Given the description of an element on the screen output the (x, y) to click on. 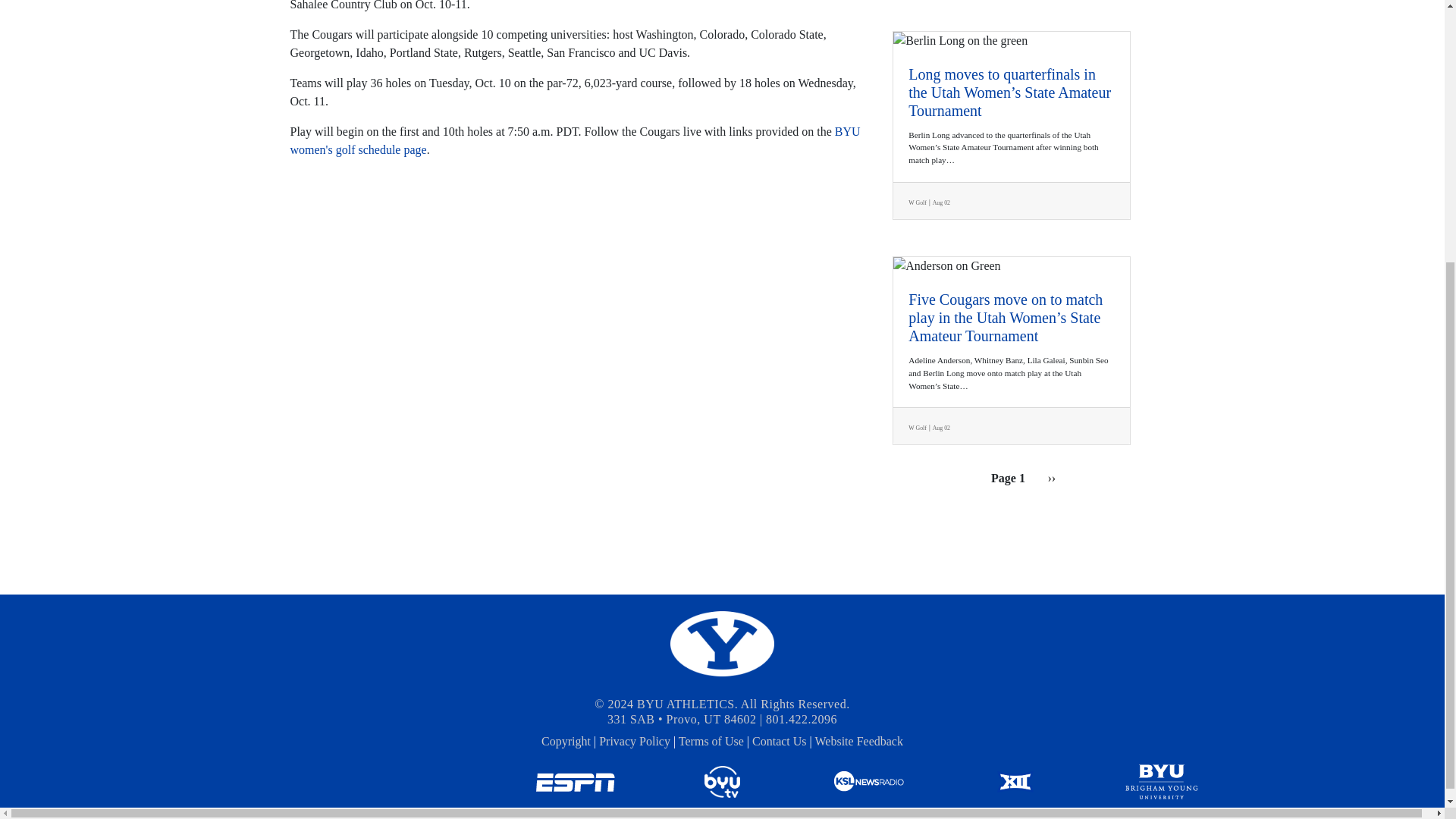
Go to next page (1051, 477)
